Given the description of an element on the screen output the (x, y) to click on. 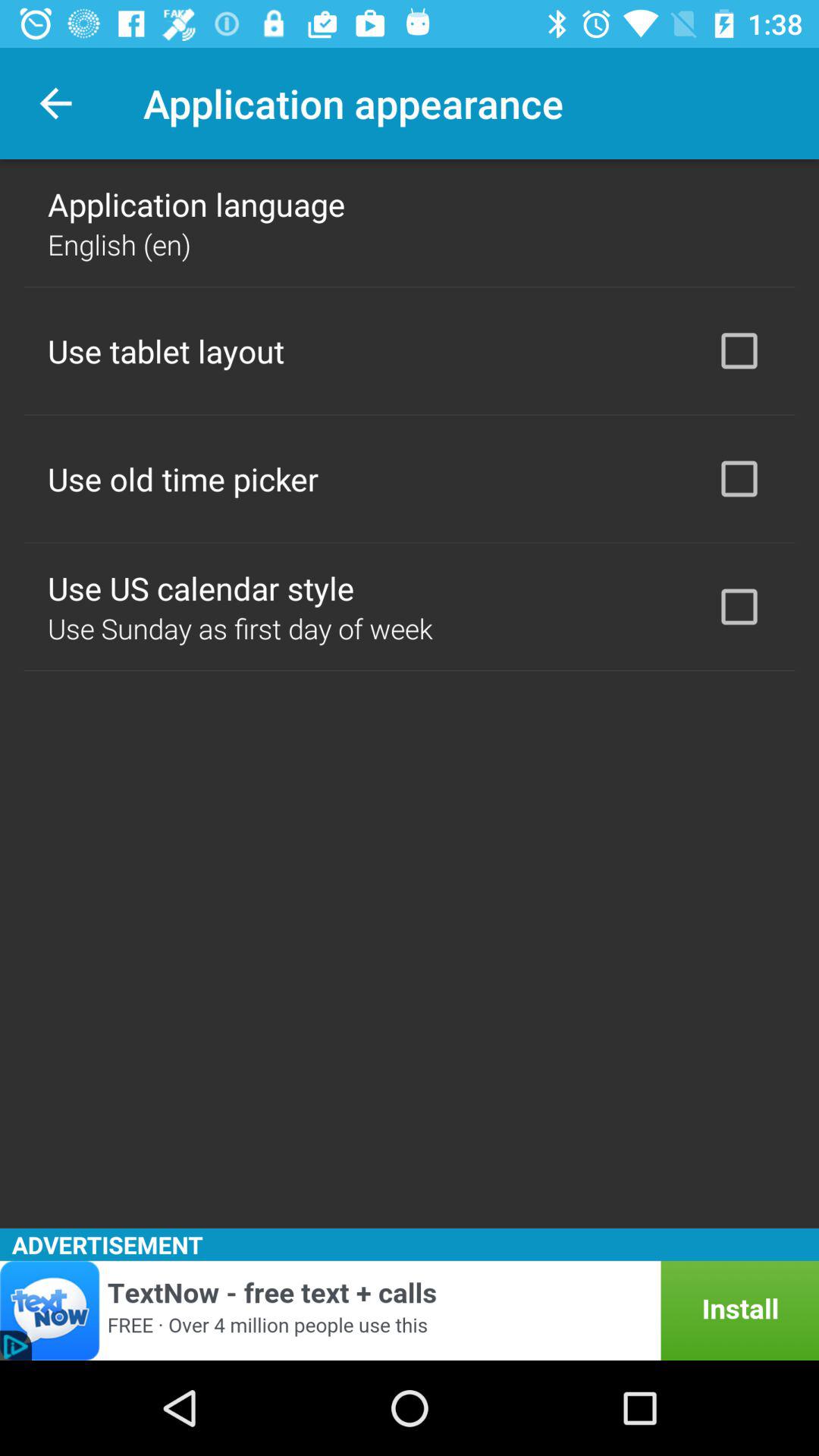
check box for us calendar style (739, 606)
